Given the description of an element on the screen output the (x, y) to click on. 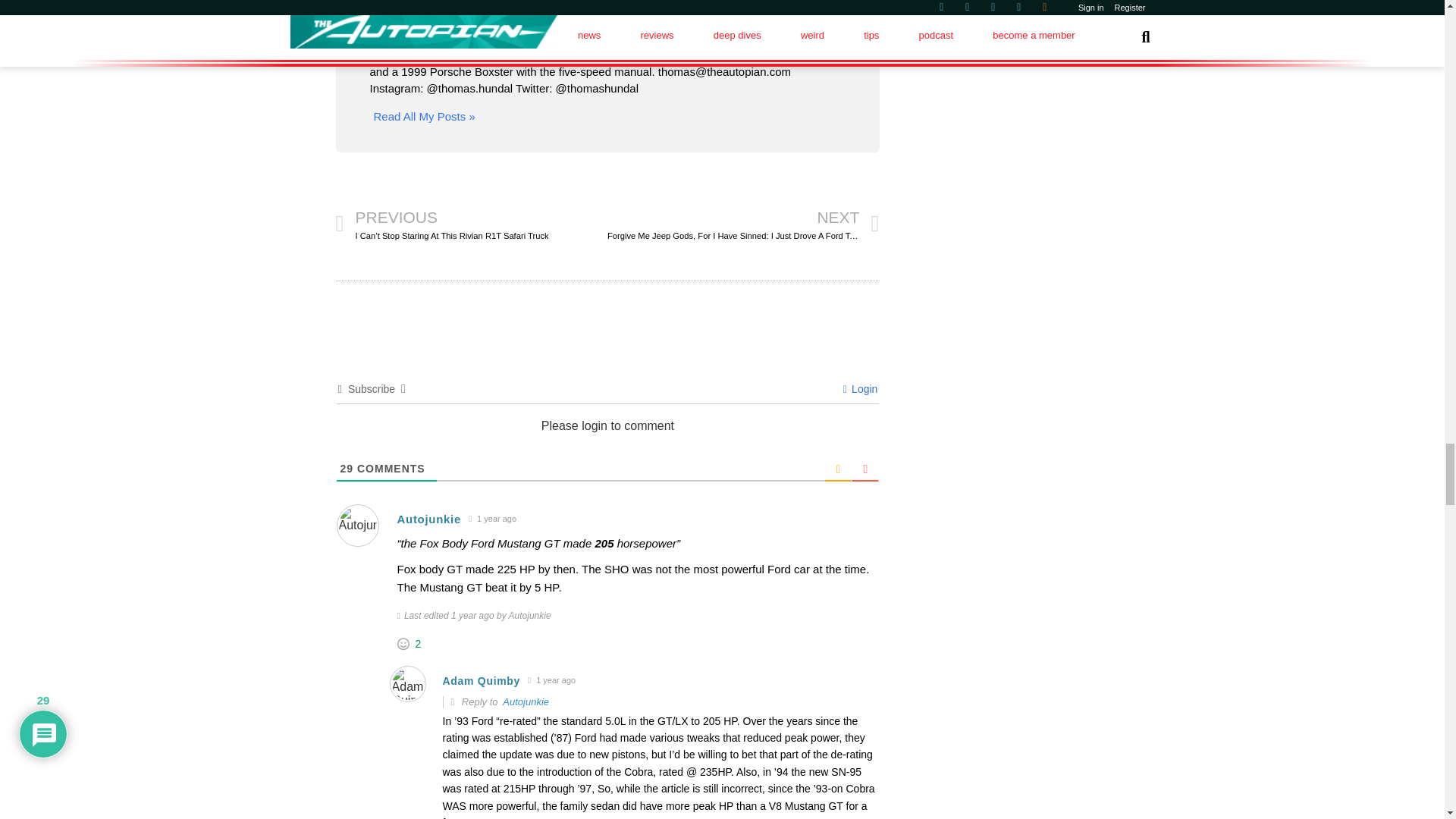
April 5, 2023 2:01 pm (491, 518)
2 (418, 644)
29 (346, 468)
April 10, 2023 12:19 pm (551, 680)
